Given the description of an element on the screen output the (x, y) to click on. 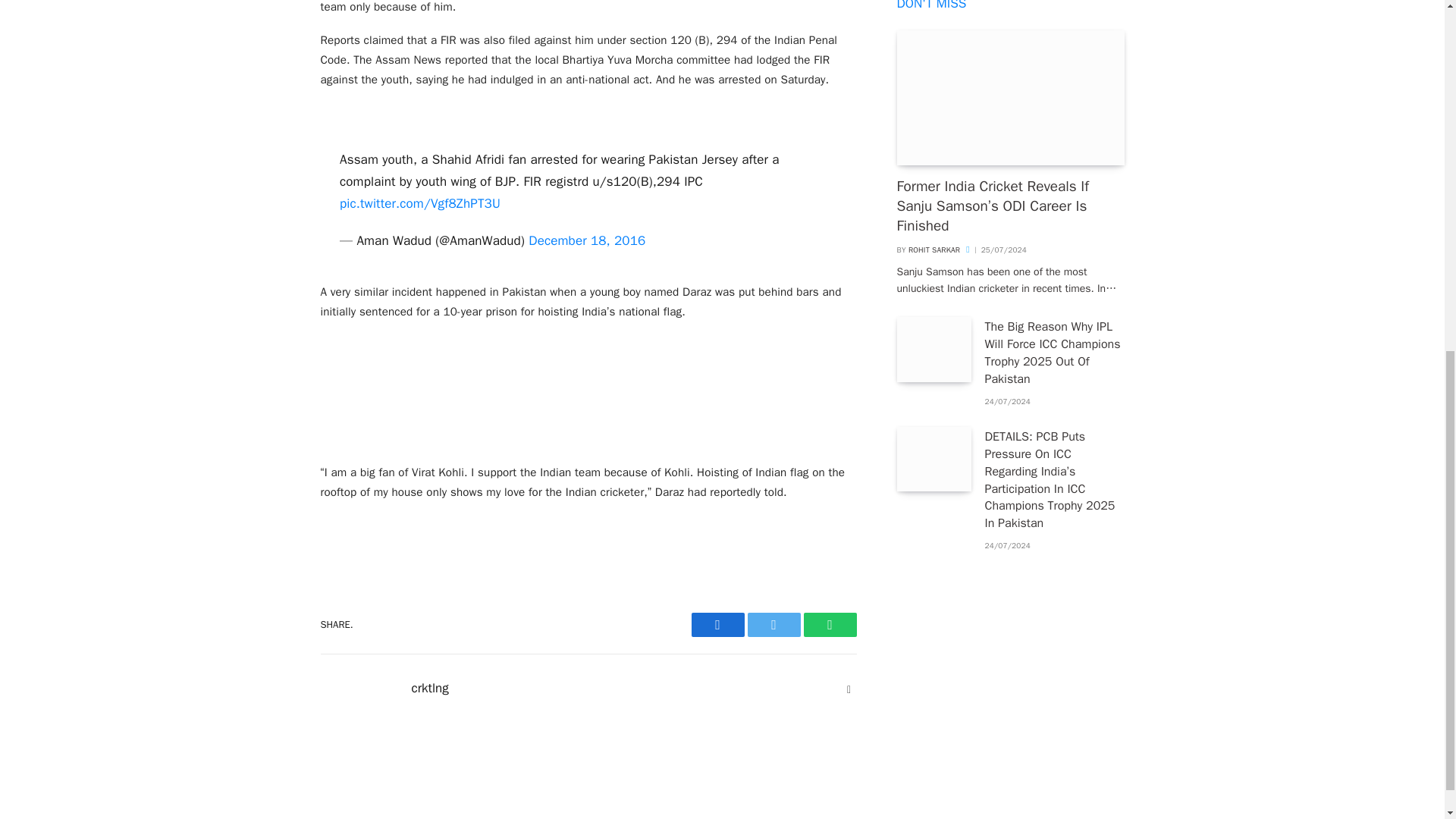
Share on WhatsApp (830, 624)
Facebook (717, 624)
Website (849, 689)
WhatsApp (830, 624)
crktlng (429, 688)
Twitter (774, 624)
December 18, 2016 (586, 240)
Posts by crktlng (429, 688)
Share on Facebook (717, 624)
